Given the description of an element on the screen output the (x, y) to click on. 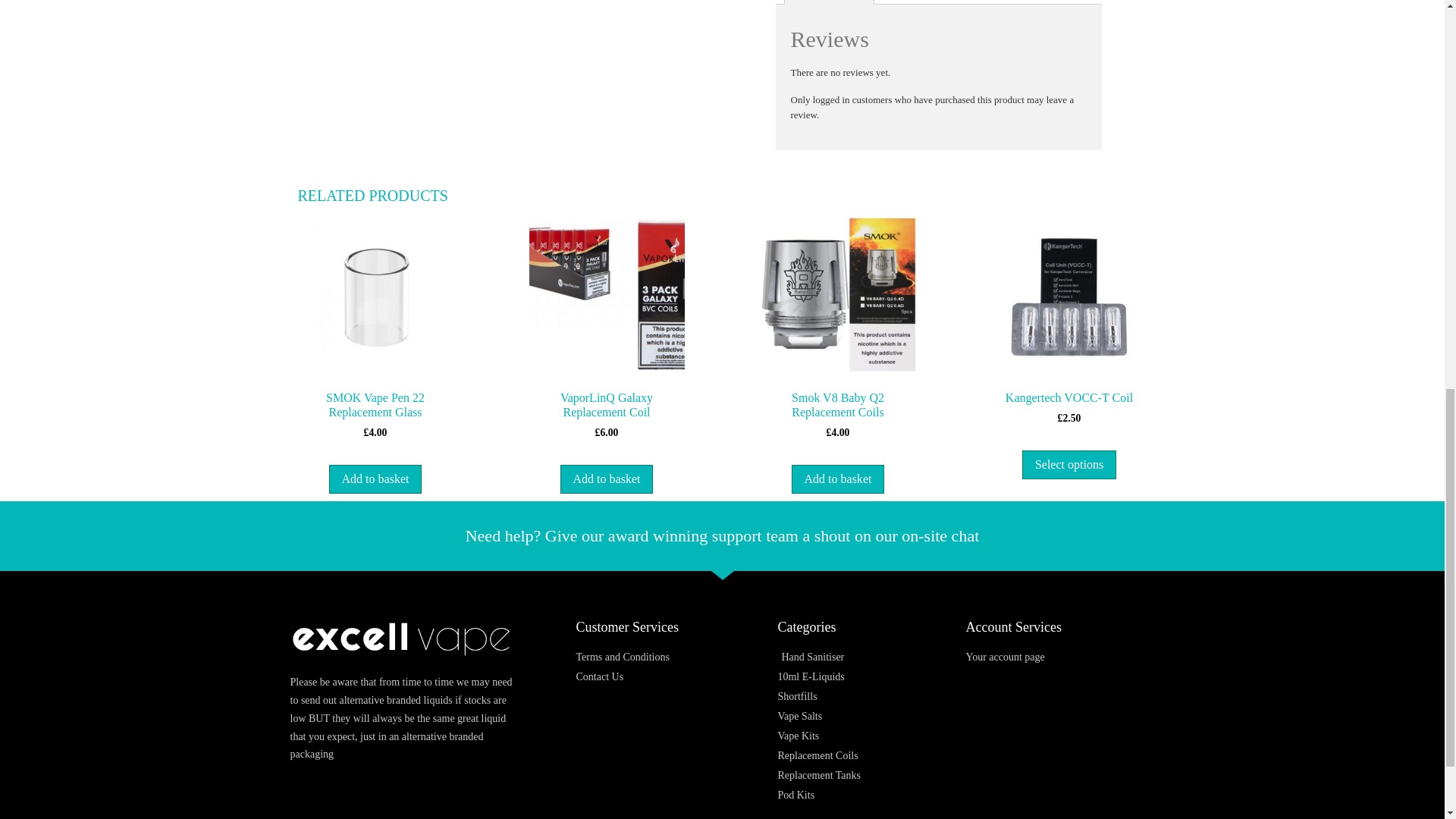
Add to basket (375, 479)
Add to basket (606, 479)
Add to basket (838, 479)
Select options (1069, 464)
